Given the description of an element on the screen output the (x, y) to click on. 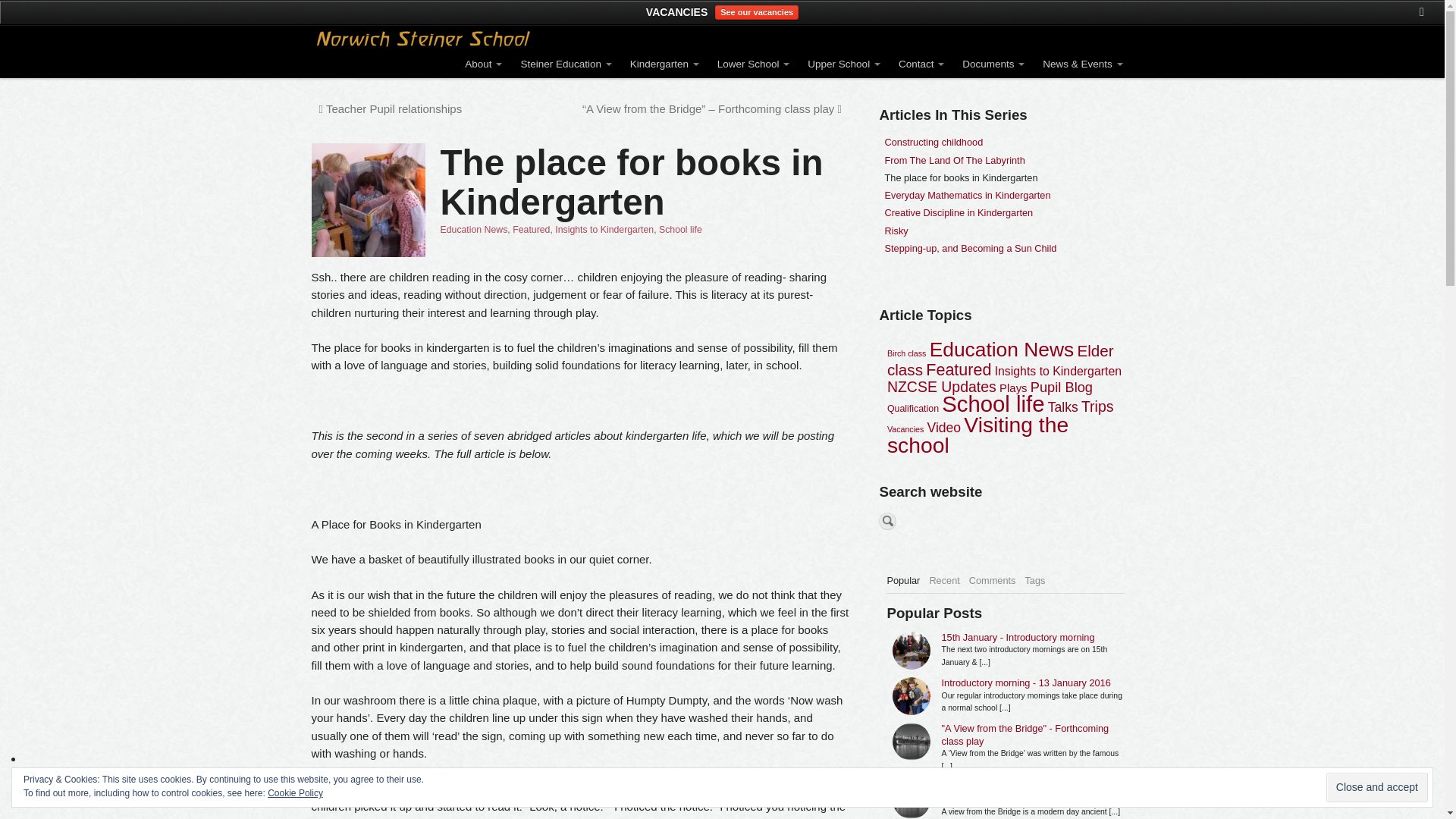
Norwich Steiner School (422, 38)
Link To The place for books in Kindergarten (368, 200)
Close and accept (1377, 787)
